Given the description of an element on the screen output the (x, y) to click on. 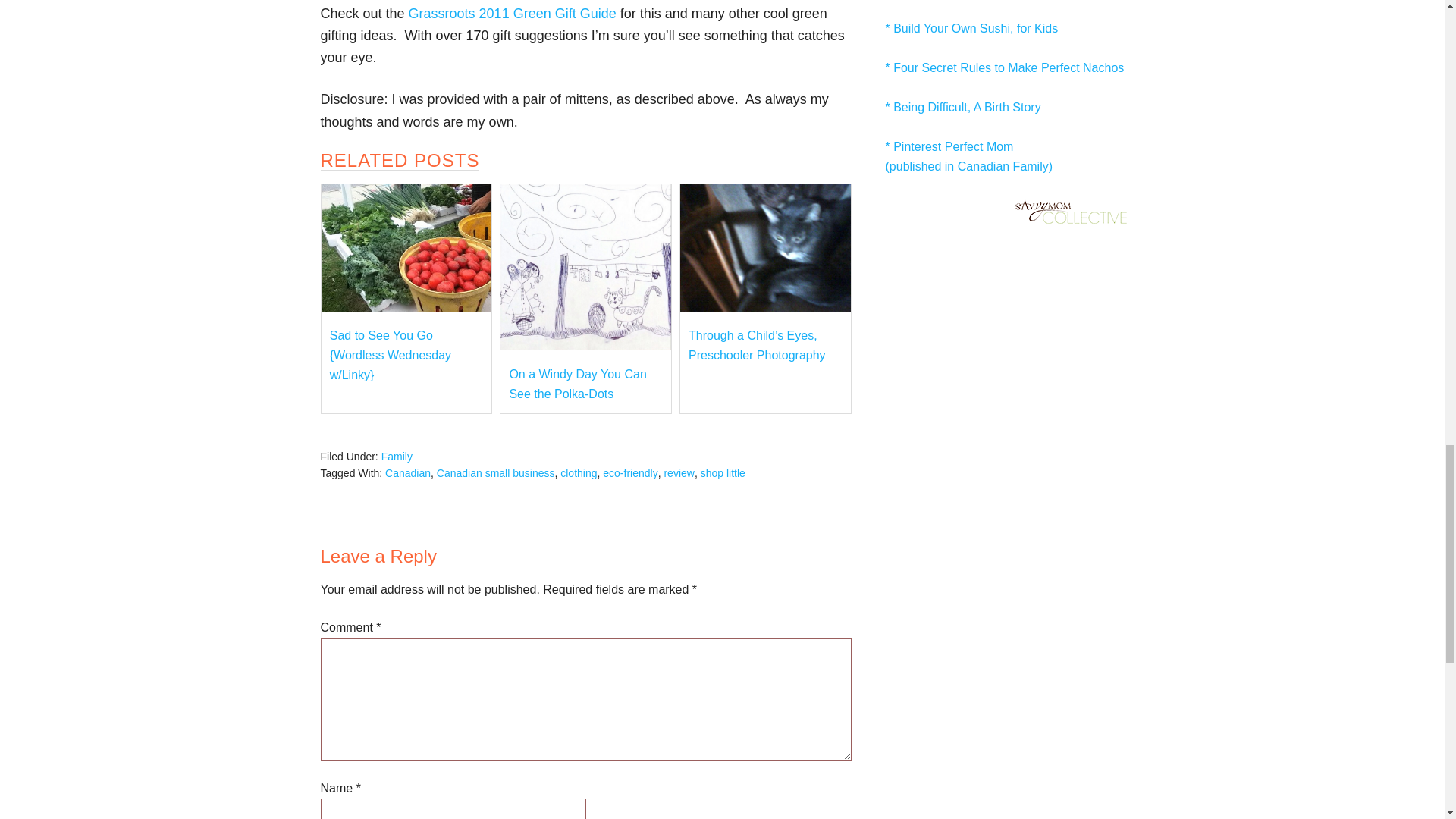
Grassroots 2011 Green Gift Guide (512, 13)
Permanent Link to On a Windy Day You Can See the Polka-Dots (585, 345)
Permanent Link to On a Windy Day You Can See the Polka-Dots (577, 383)
